Given the description of an element on the screen output the (x, y) to click on. 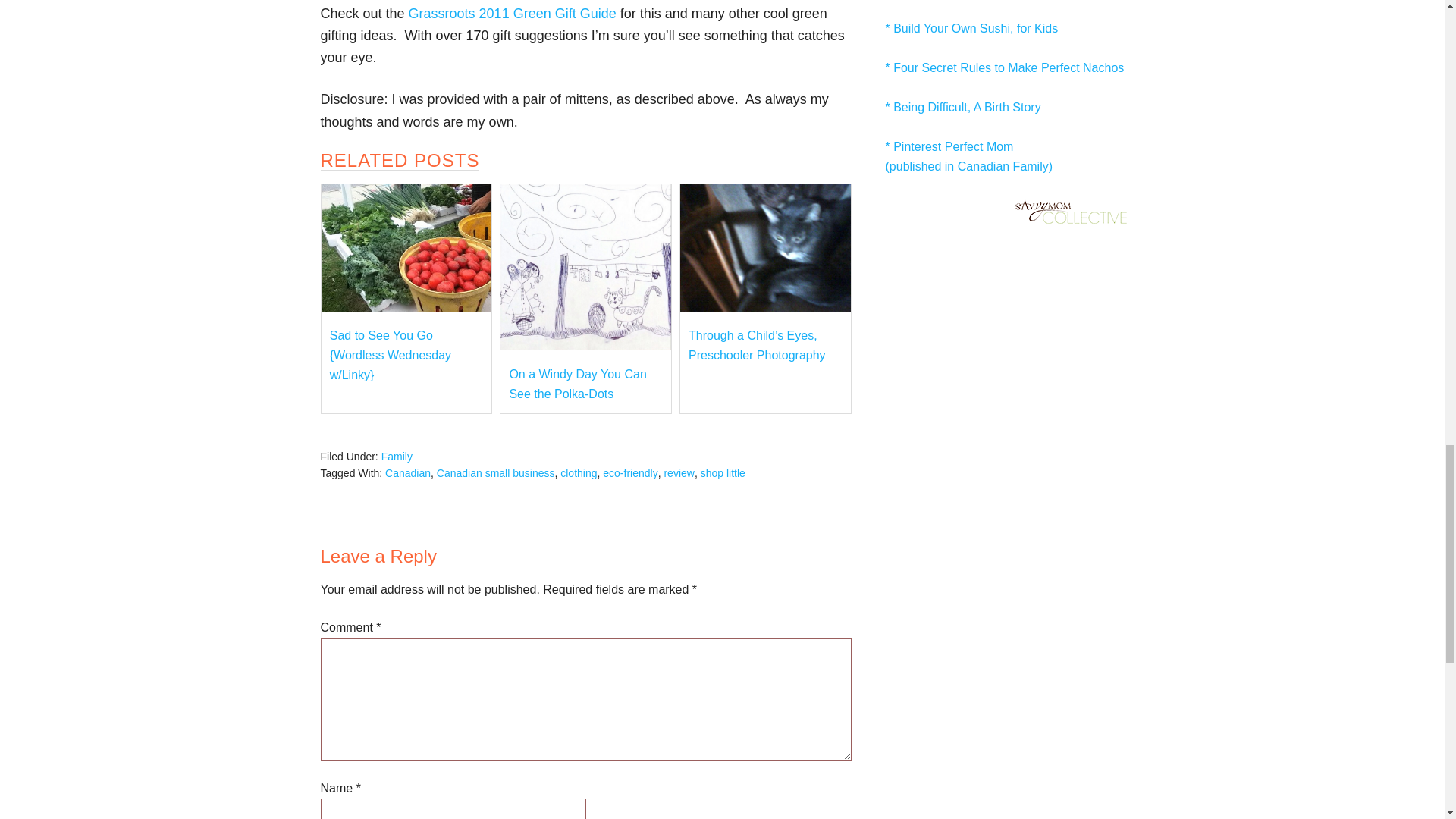
Grassroots 2011 Green Gift Guide (512, 13)
Permanent Link to On a Windy Day You Can See the Polka-Dots (585, 345)
Permanent Link to On a Windy Day You Can See the Polka-Dots (577, 383)
